Given the description of an element on the screen output the (x, y) to click on. 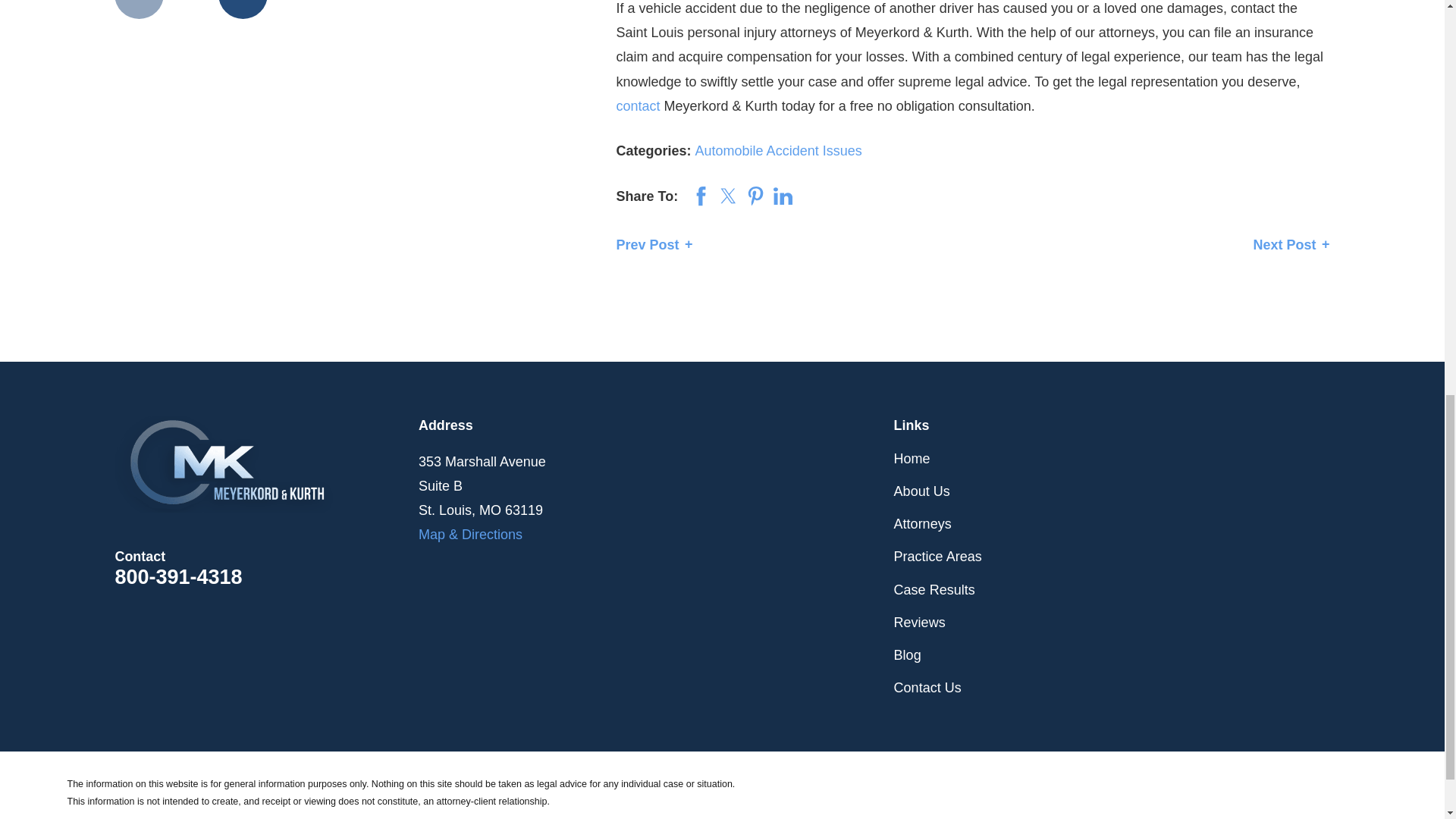
Home (267, 463)
View previous item (139, 9)
View next item (242, 9)
